Given the description of an element on the screen output the (x, y) to click on. 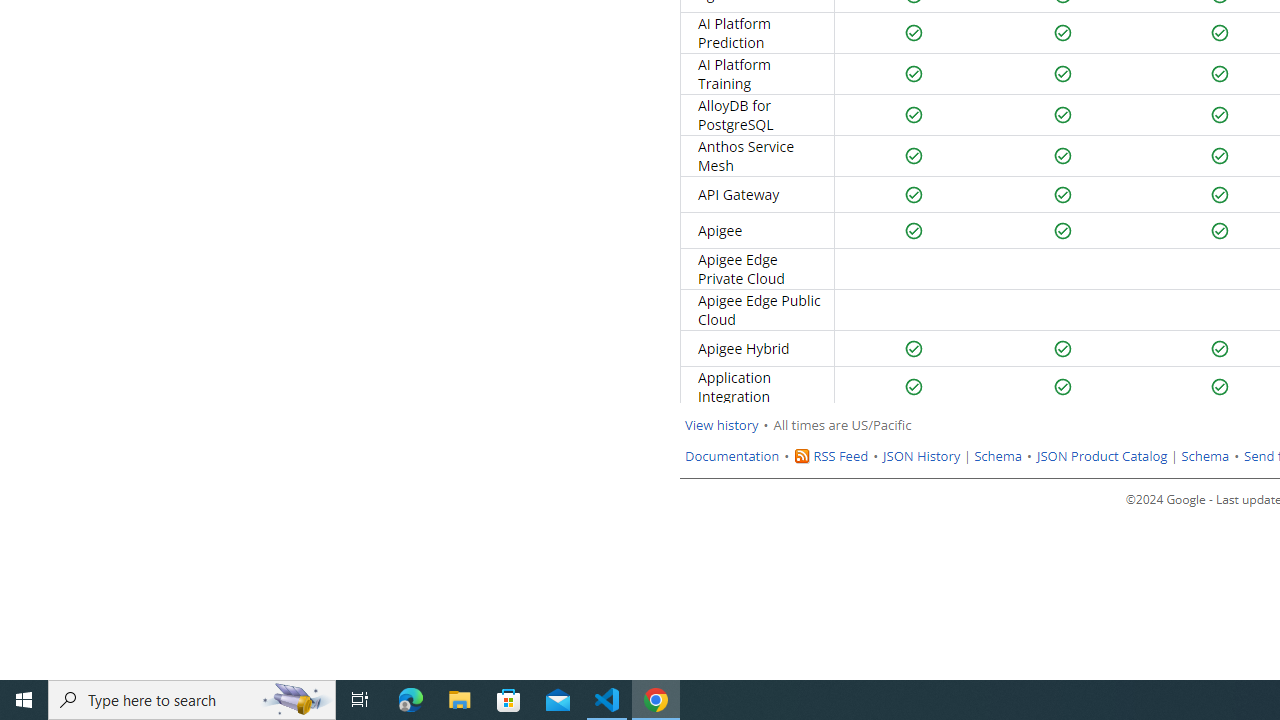
Schema (1205, 456)
RSS Feed (840, 456)
View history (721, 425)
Documentation (731, 456)
JSON History (922, 456)
JSON Product Catalog (1101, 456)
Available status (1220, 387)
